Given the description of an element on the screen output the (x, y) to click on. 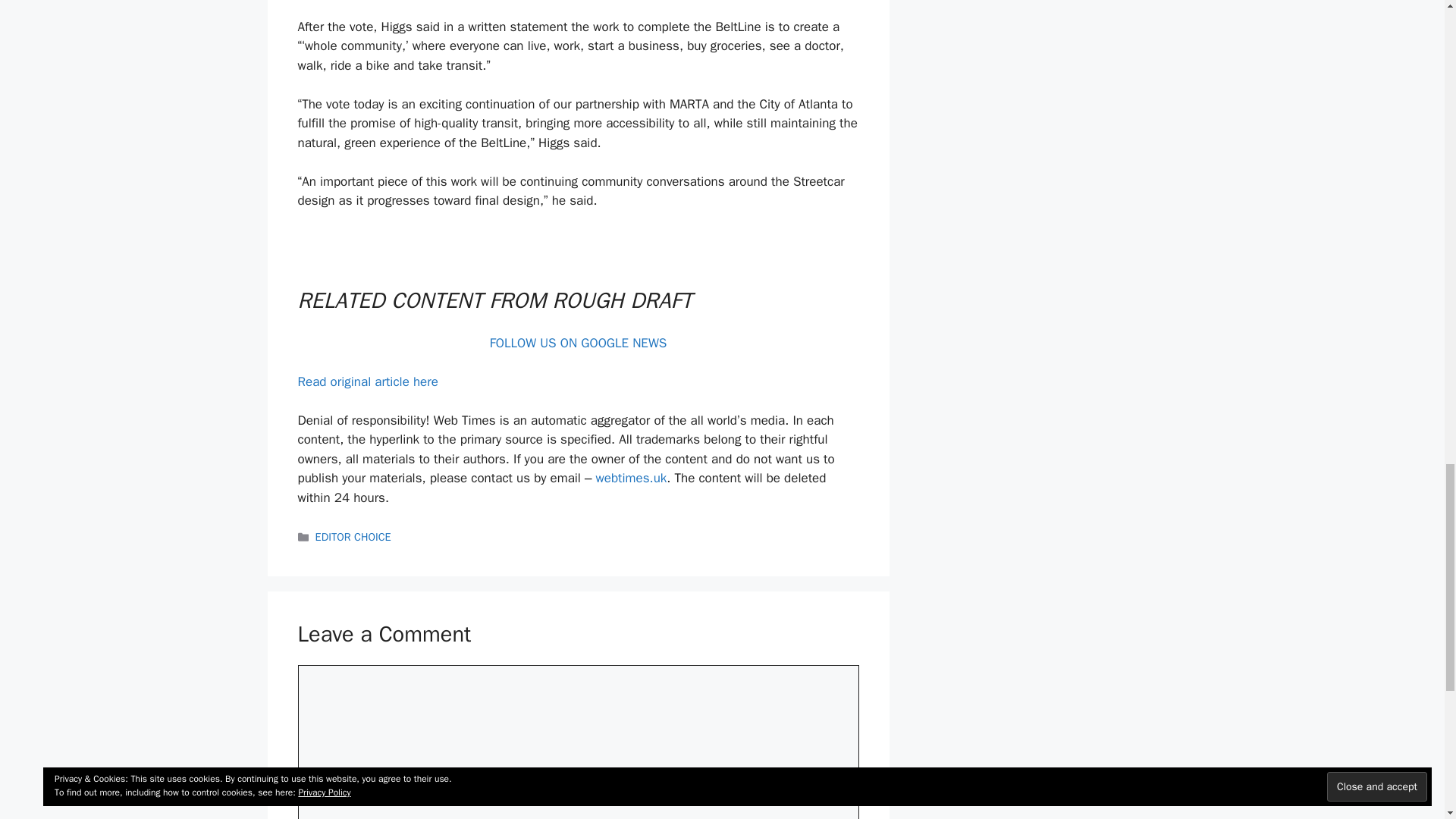
webtimes.uk (630, 478)
EDITOR CHOICE (353, 536)
FOLLOW US ON GOOGLE NEWS (577, 342)
Read original article here (367, 381)
